Given the description of an element on the screen output the (x, y) to click on. 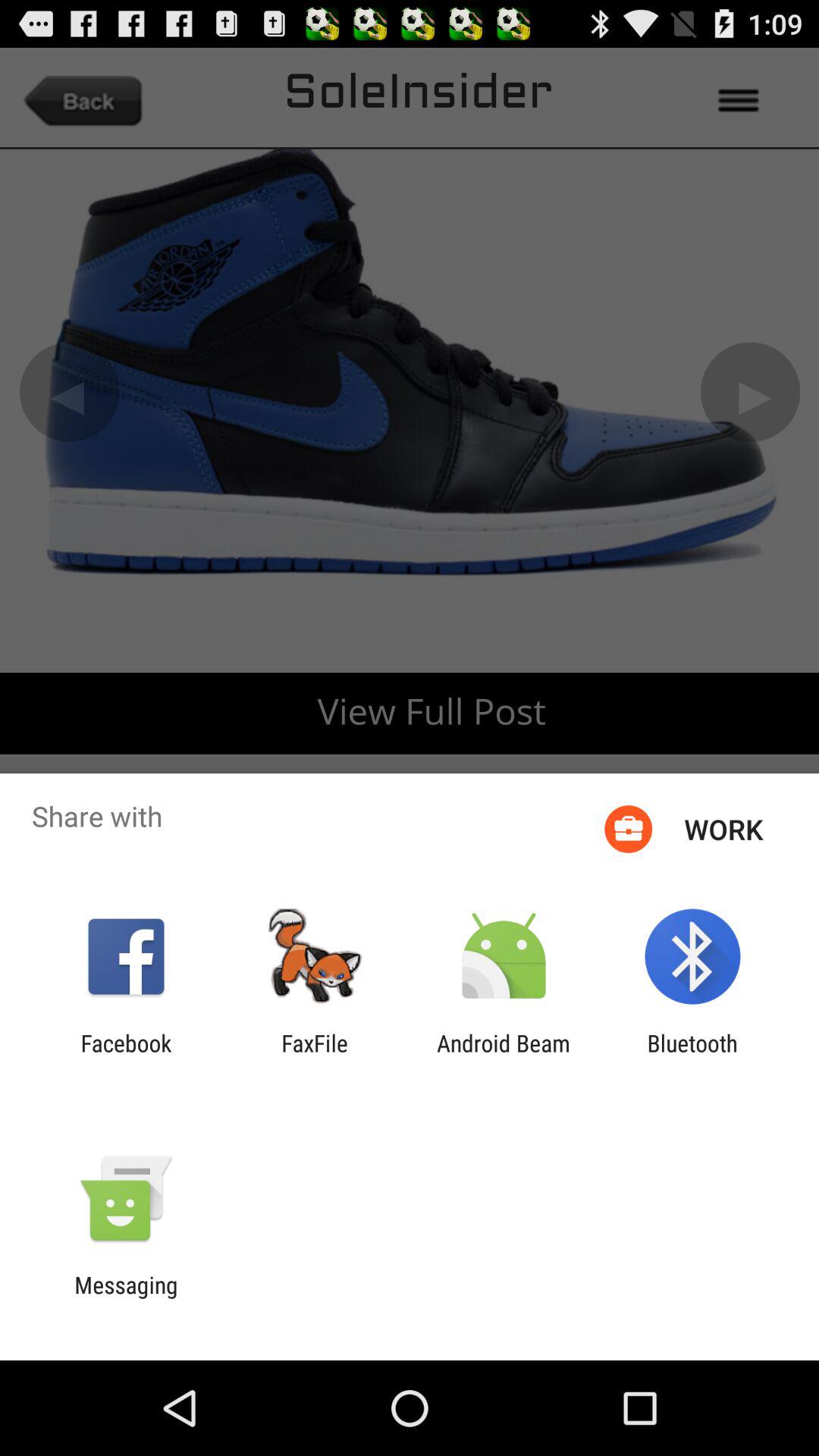
turn on icon next to bluetooth item (503, 1056)
